Given the description of an element on the screen output the (x, y) to click on. 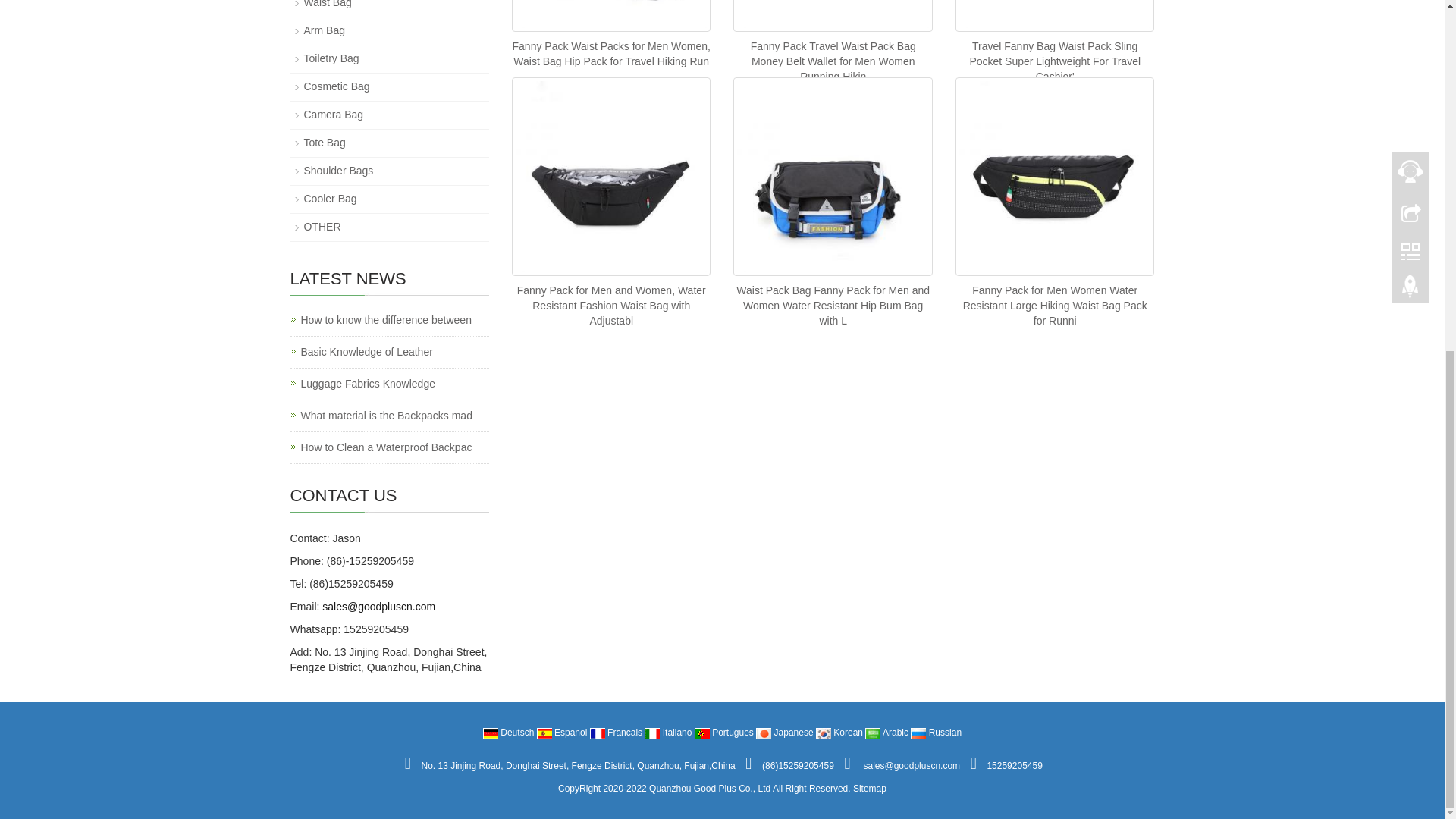
How to Clean a Waterproof  Backpack (385, 447)
What material is the Backpacks made of  (385, 415)
How to know the difference between denim and canvas? (384, 320)
Luggage Fabrics Knowledge (366, 383)
